Given the description of an element on the screen output the (x, y) to click on. 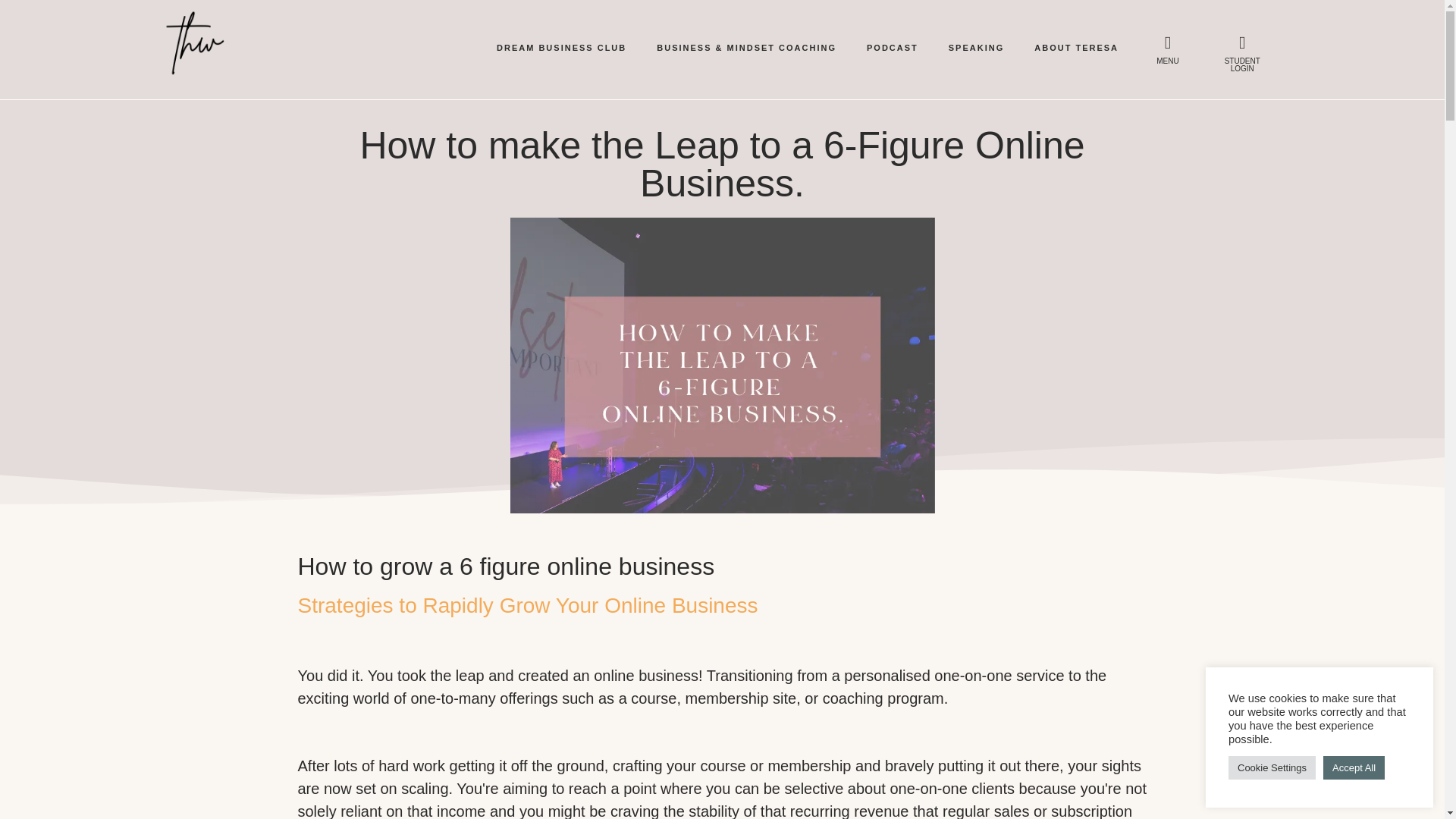
ABOUT TERESA (1076, 47)
DREAM BUSINESS CLUB (561, 47)
SPEAKING (976, 47)
PODCAST (892, 47)
